Given the description of an element on the screen output the (x, y) to click on. 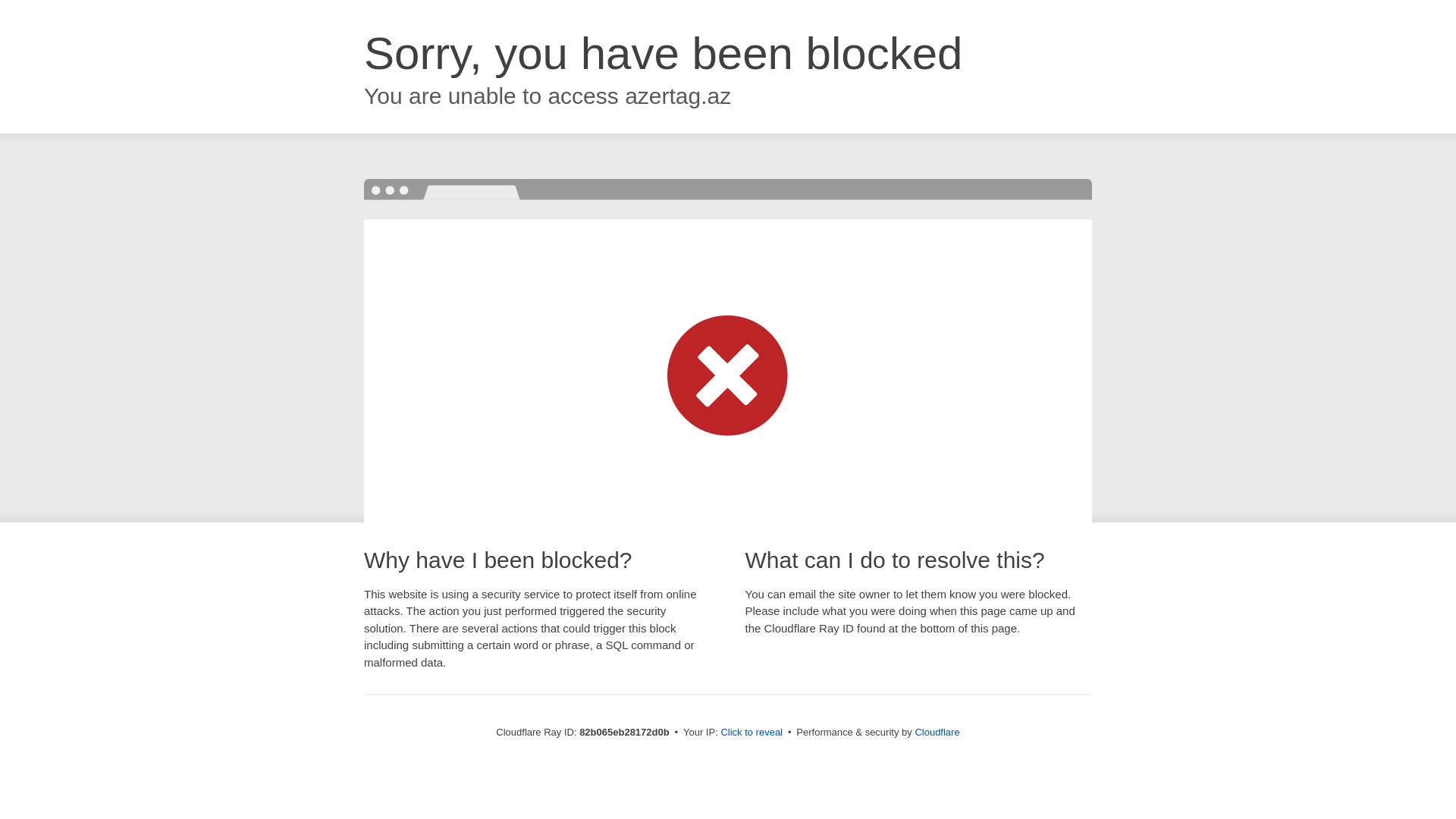
Cloudflare Element type: text (936, 731)
Click to reveal Element type: text (751, 732)
